Given the description of an element on the screen output the (x, y) to click on. 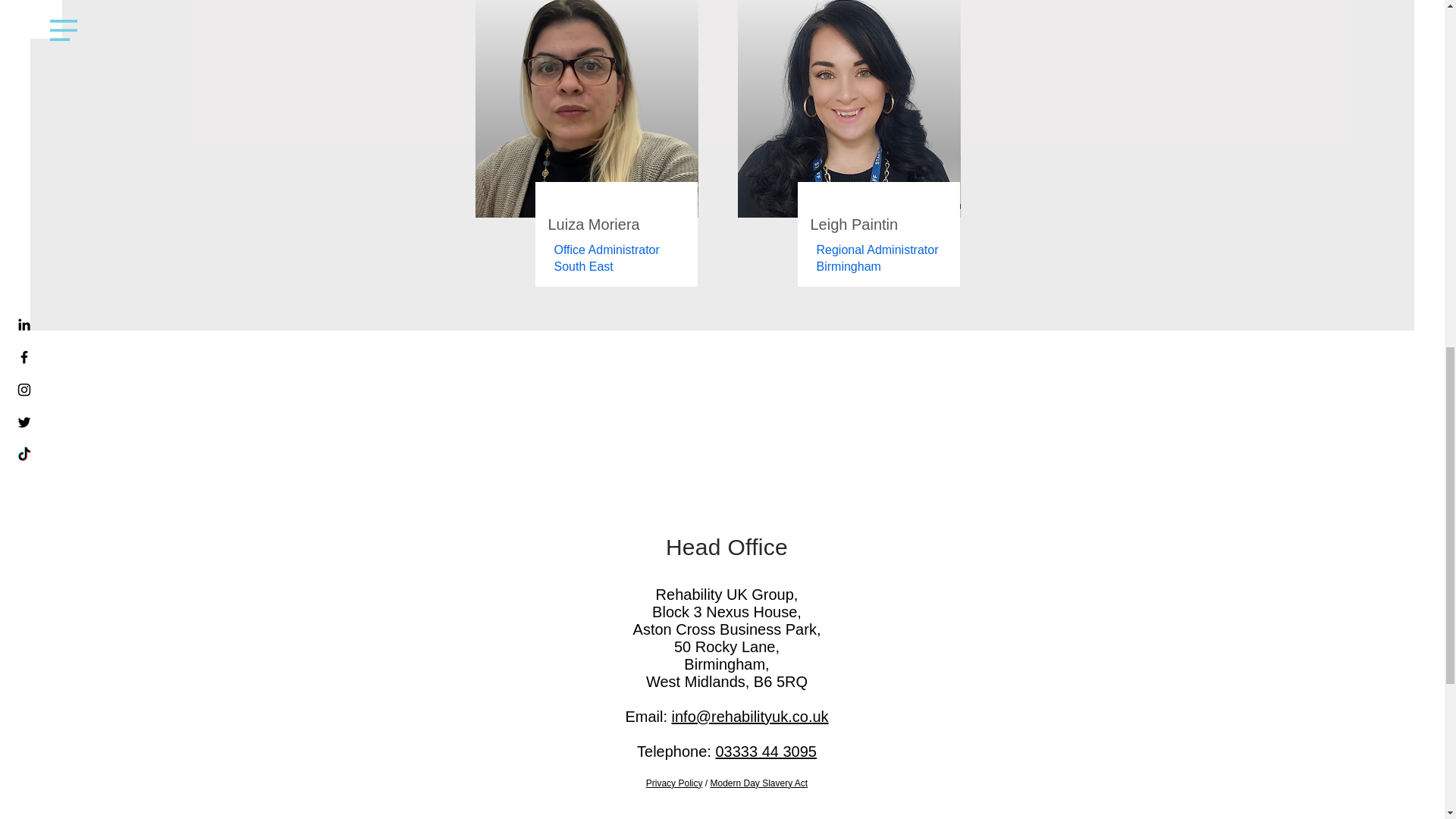
Privacy Policy (674, 783)
03333 44 3095 (764, 751)
Modern Day Slavery Act (759, 783)
